Given the description of an element on the screen output the (x, y) to click on. 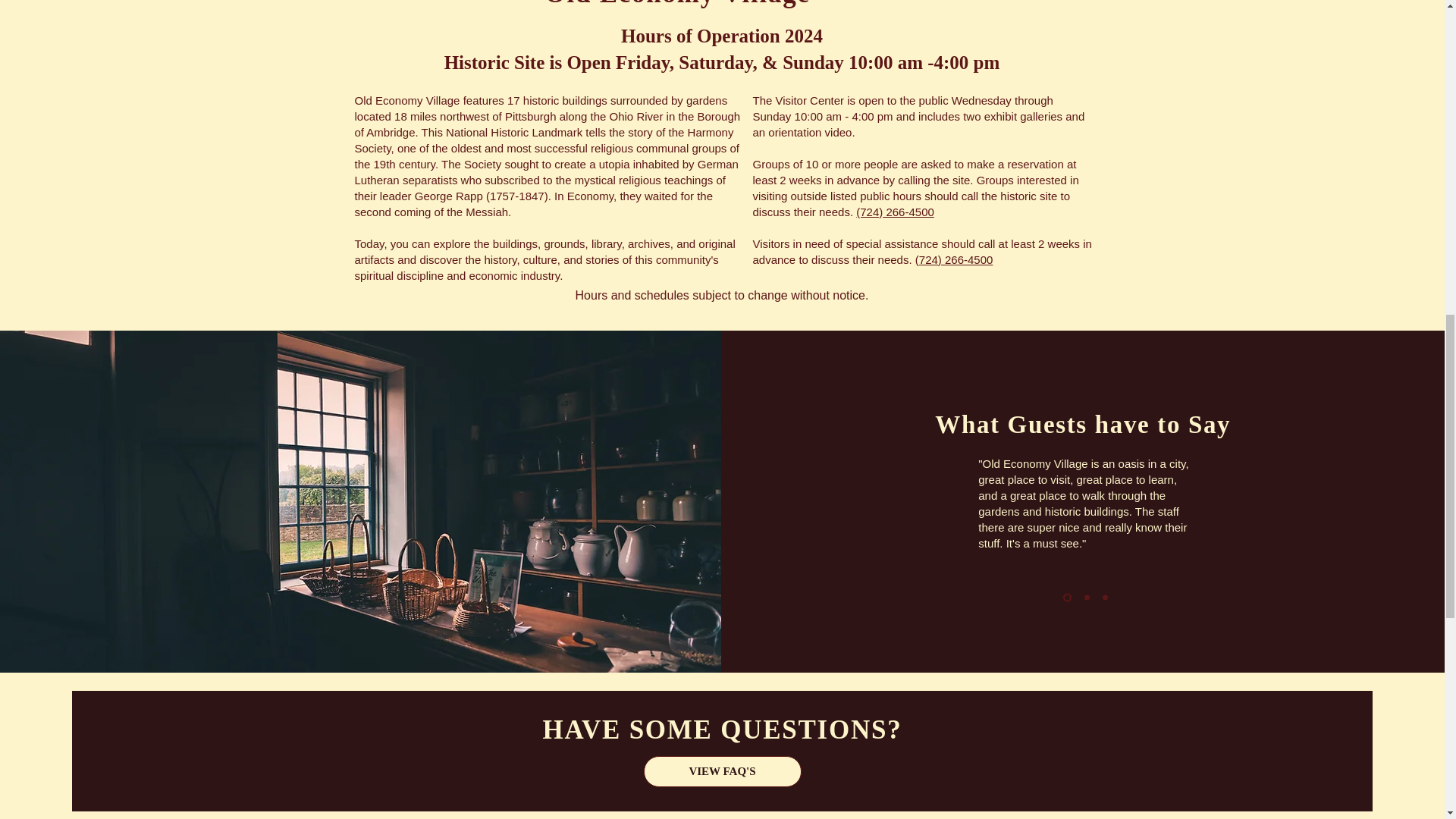
VIEW FAQ'S (721, 771)
